Given the description of an element on the screen output the (x, y) to click on. 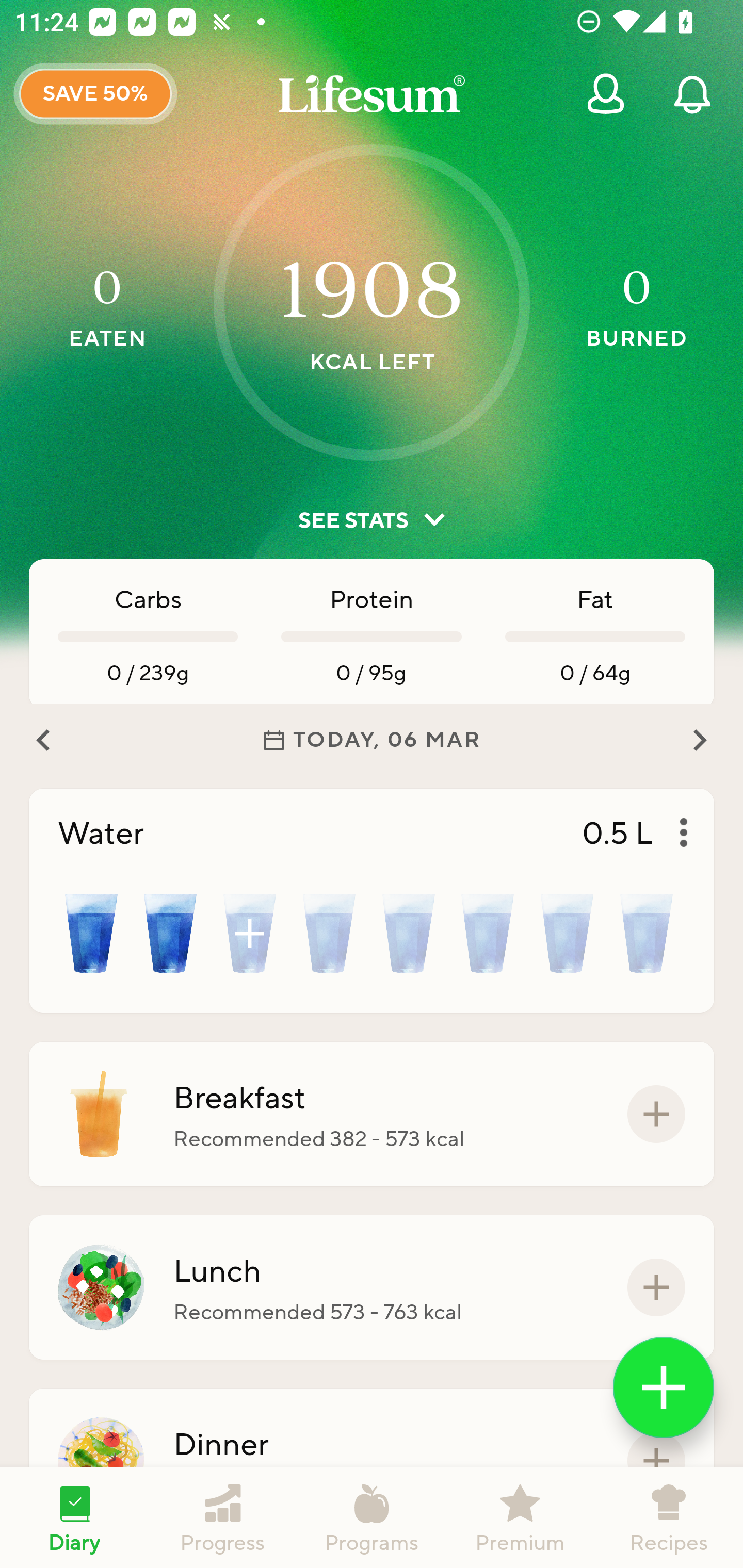
SEE STATS (371, 519)
TODAY, 06 MAR (371, 739)
Breakfast Recommended 382 - 573 kcal (371, 1113)
Lunch Recommended 573 - 763 kcal (371, 1287)
Dinner Recommended 573 - 763 kcal (371, 1461)
Progress (222, 1517)
Programs (371, 1517)
Premium (519, 1517)
Recipes (668, 1517)
